Given the description of an element on the screen output the (x, y) to click on. 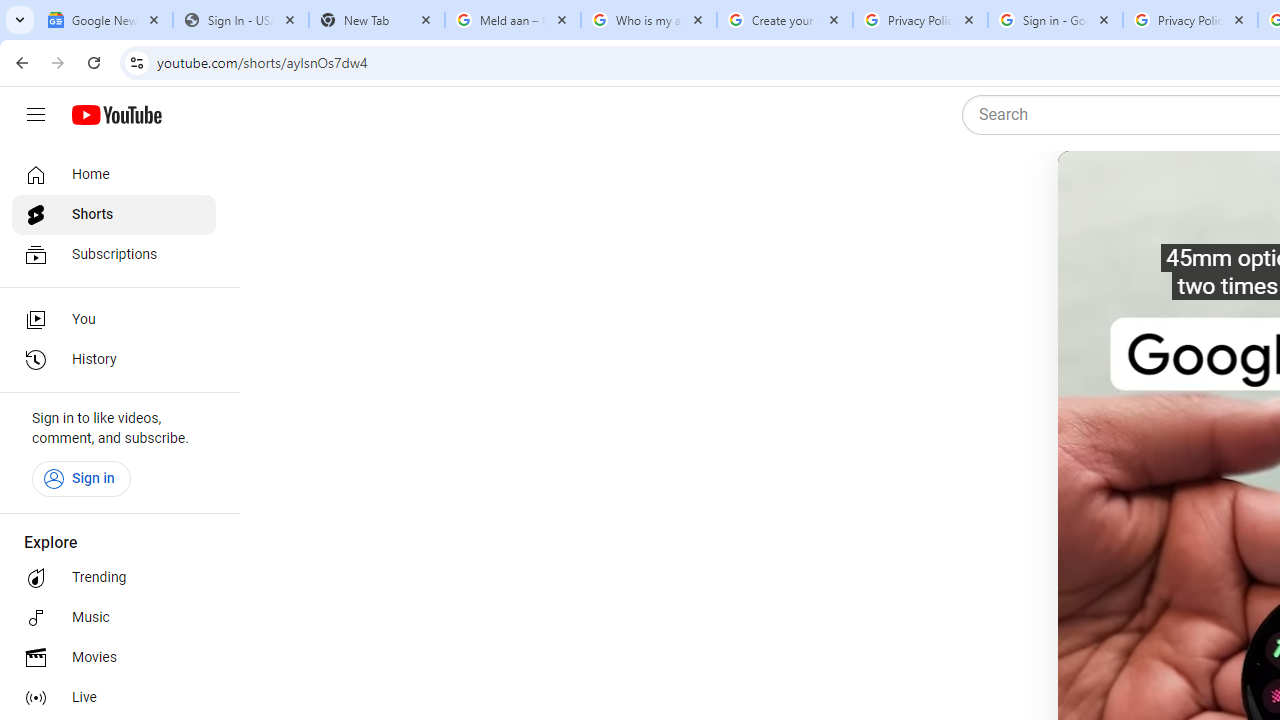
Play (k) (1097, 191)
Mute (1161, 191)
Mute (1154, 191)
Music (113, 617)
Trending (113, 578)
Shorts (113, 214)
YouTube Home (116, 115)
Sign in - Google Accounts (1055, 20)
